Given the description of an element on the screen output the (x, y) to click on. 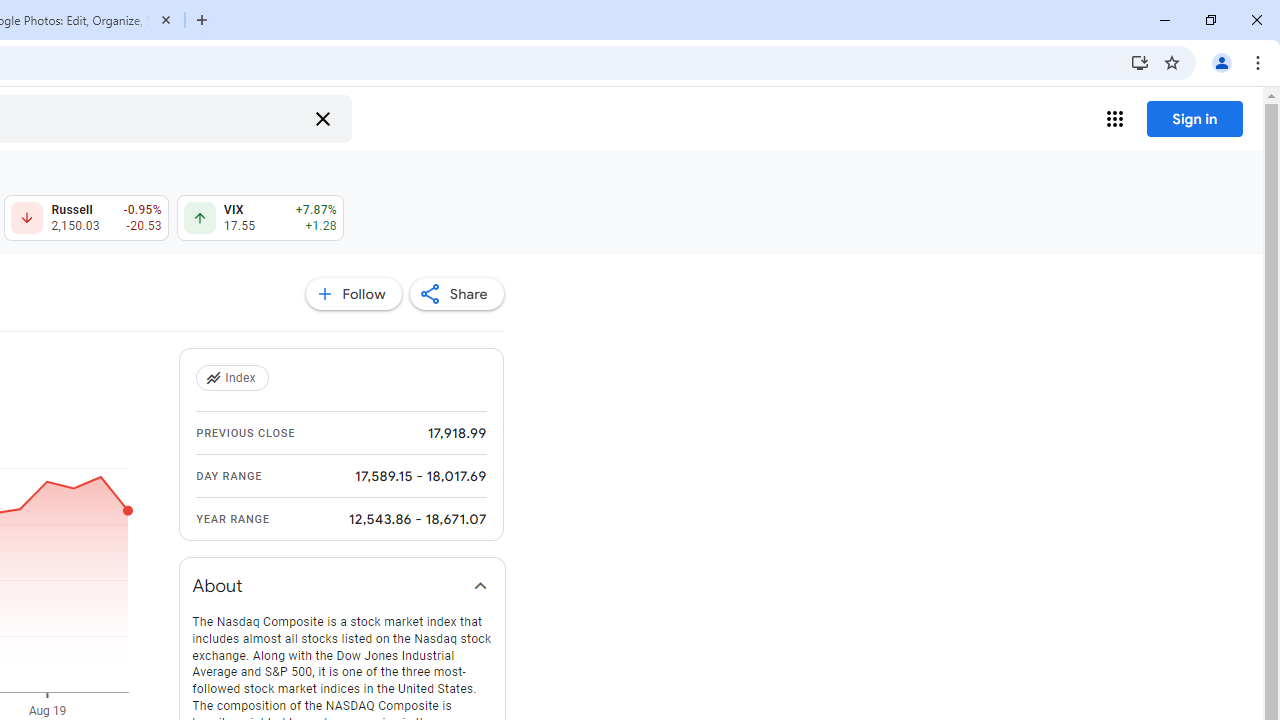
Index (233, 377)
Follow (353, 293)
About (342, 586)
Share (456, 293)
Clear search (322, 118)
VIX 17.55 Up by 7.87% +1.28 (260, 218)
Install Google Finance (1139, 62)
Russell 2,150.03 Down by 0.95% -20.53 (85, 218)
